Given the description of an element on the screen output the (x, y) to click on. 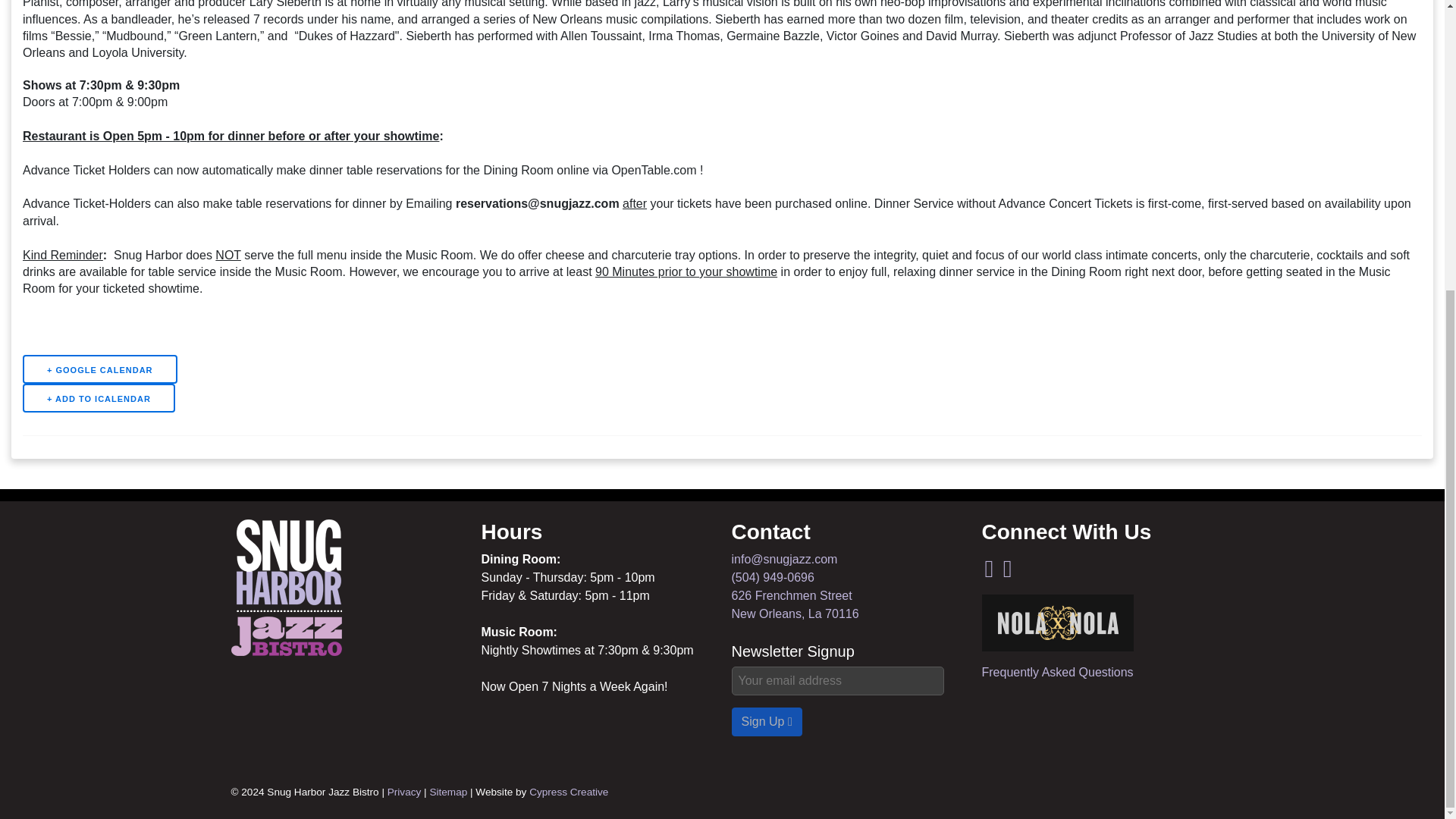
Privacy (404, 791)
NOLA x NOLA (1056, 622)
Sitemap (794, 603)
Cypress Creative (448, 791)
Frequently Asked Questions (568, 791)
Add to Google Calendar (1056, 671)
Sign Up (100, 369)
